Given the description of an element on the screen output the (x, y) to click on. 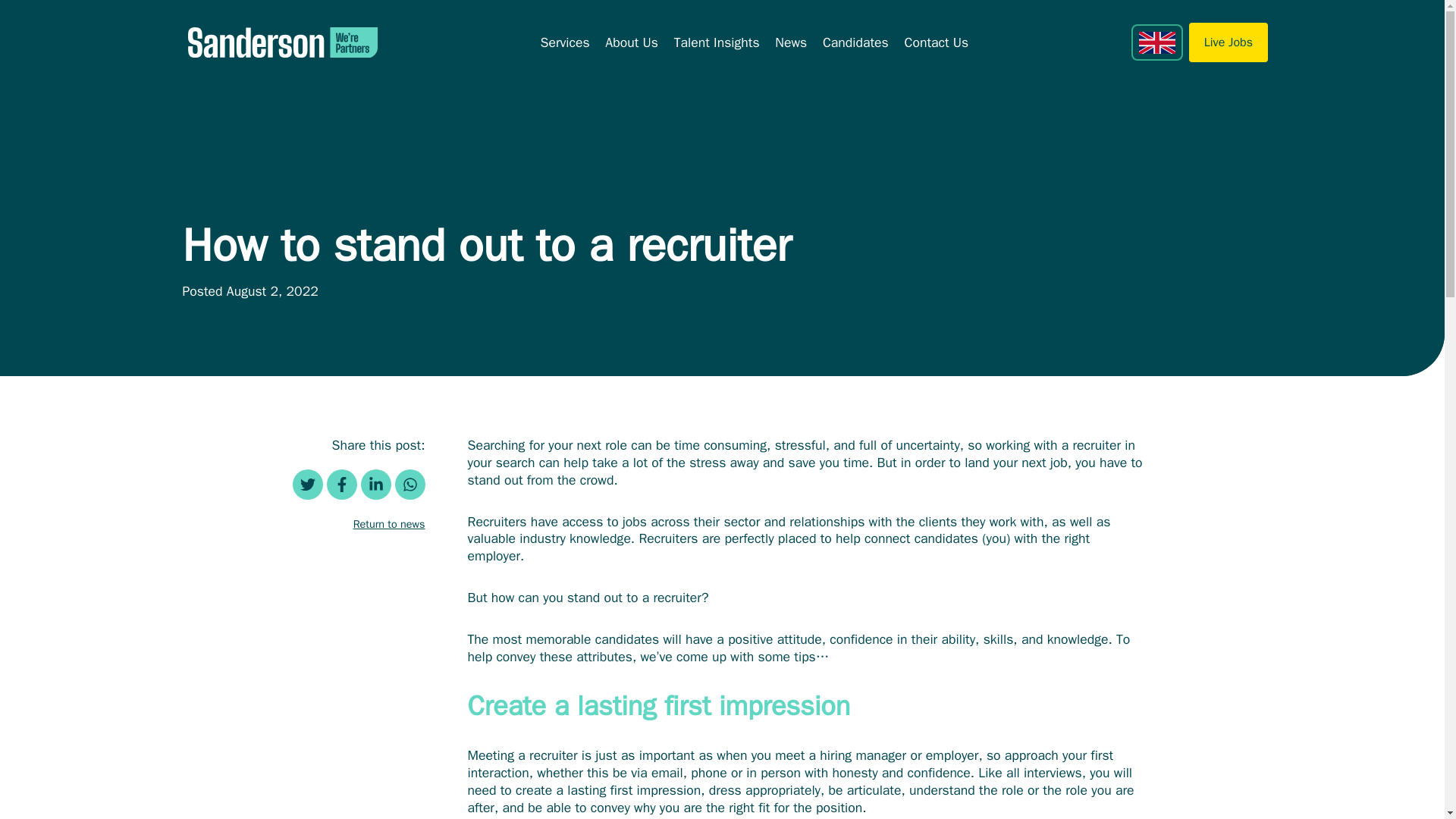
Live Jobs (1228, 42)
Contact Us (936, 42)
About Us (630, 42)
Candidates (855, 42)
News (790, 42)
Talent Insights (716, 42)
Services (564, 42)
